Given the description of an element on the screen output the (x, y) to click on. 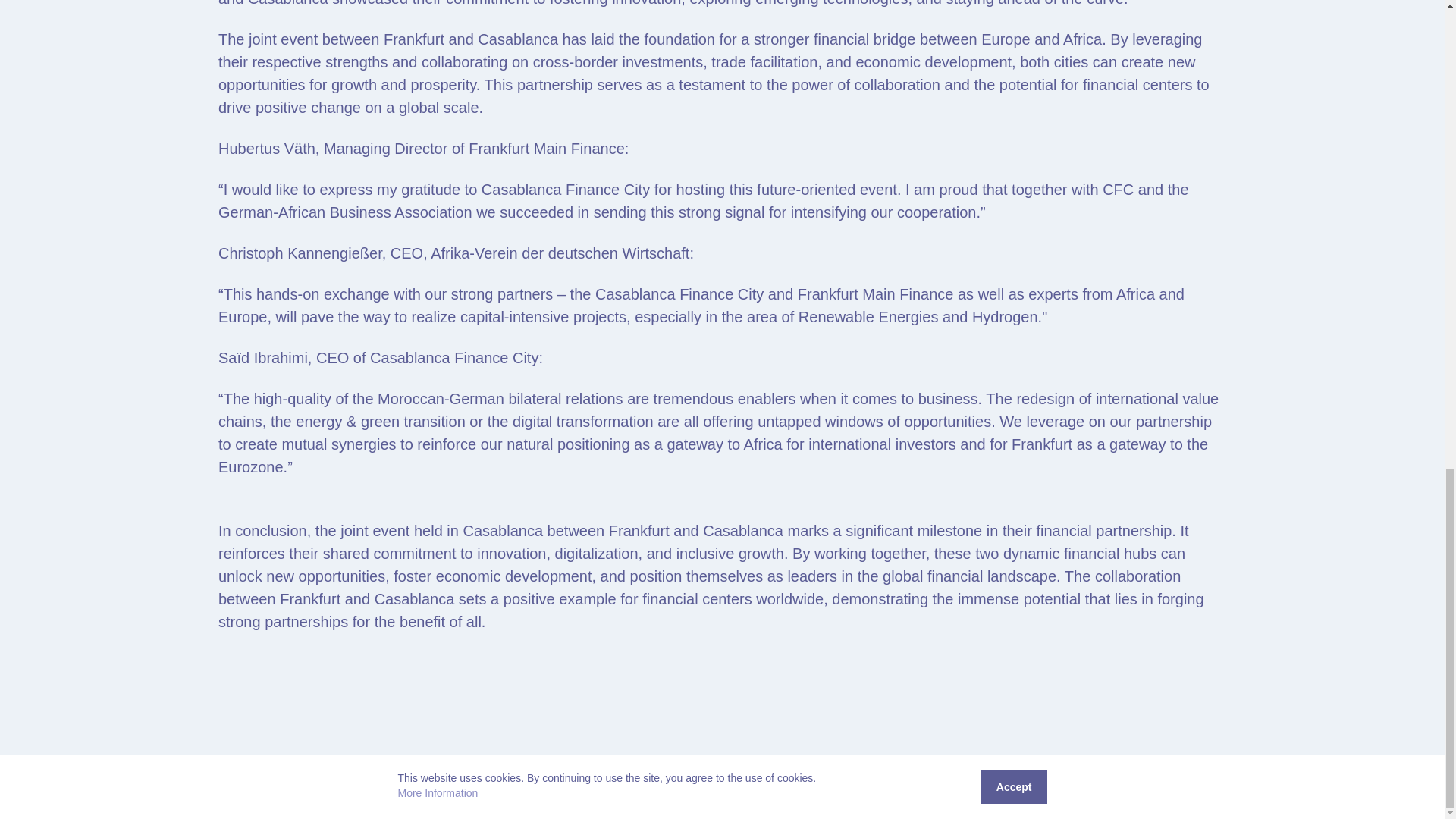
Credits (1296, 796)
Resources (1246, 796)
Imprint (1412, 796)
Privacy Policy (1355, 796)
